Given the description of an element on the screen output the (x, y) to click on. 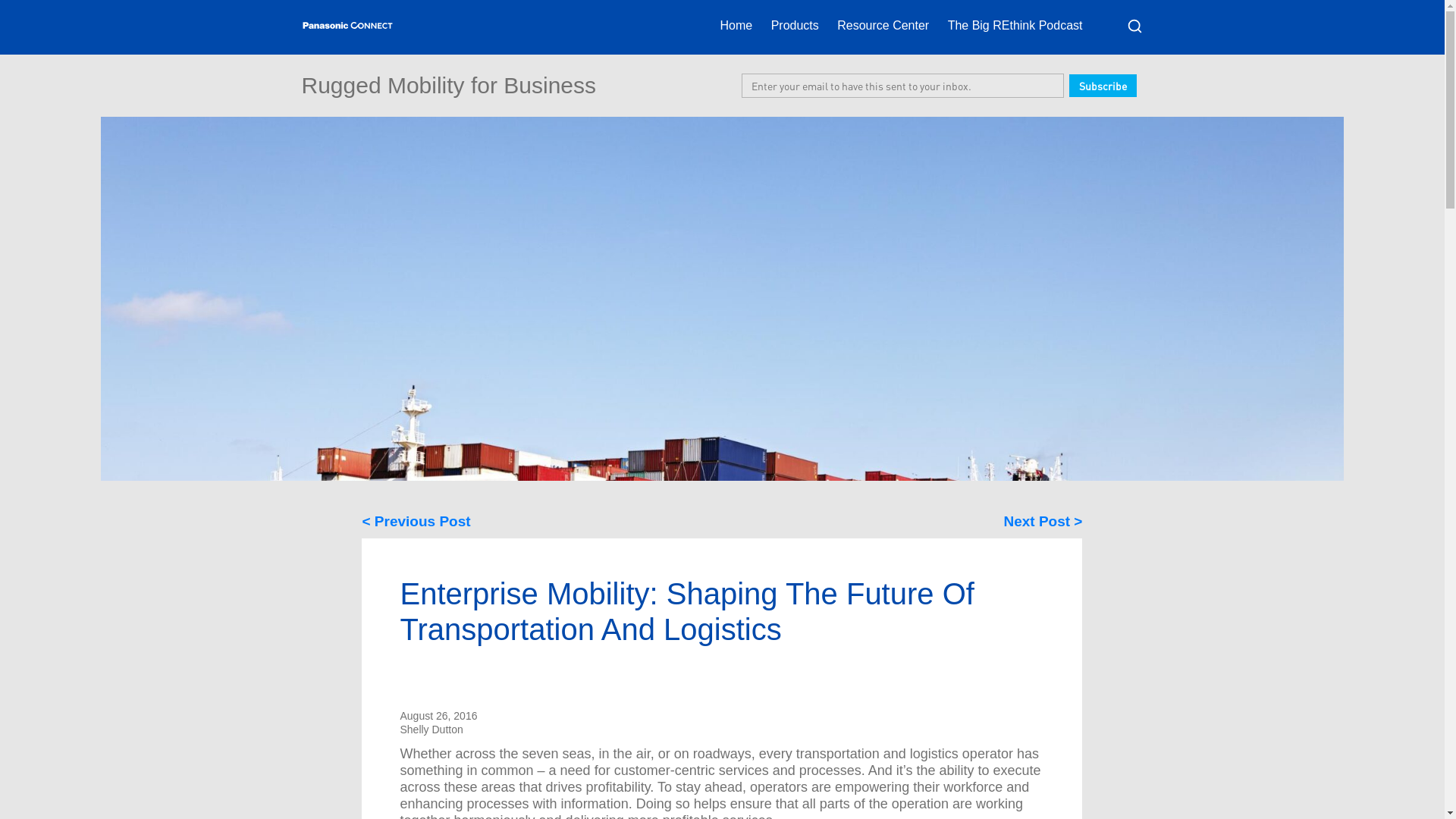
The Big REthink Podcast (1015, 24)
Home (735, 24)
Products (794, 24)
Rugged Mobility for Business (448, 84)
Resource Center (882, 24)
